Given the description of an element on the screen output the (x, y) to click on. 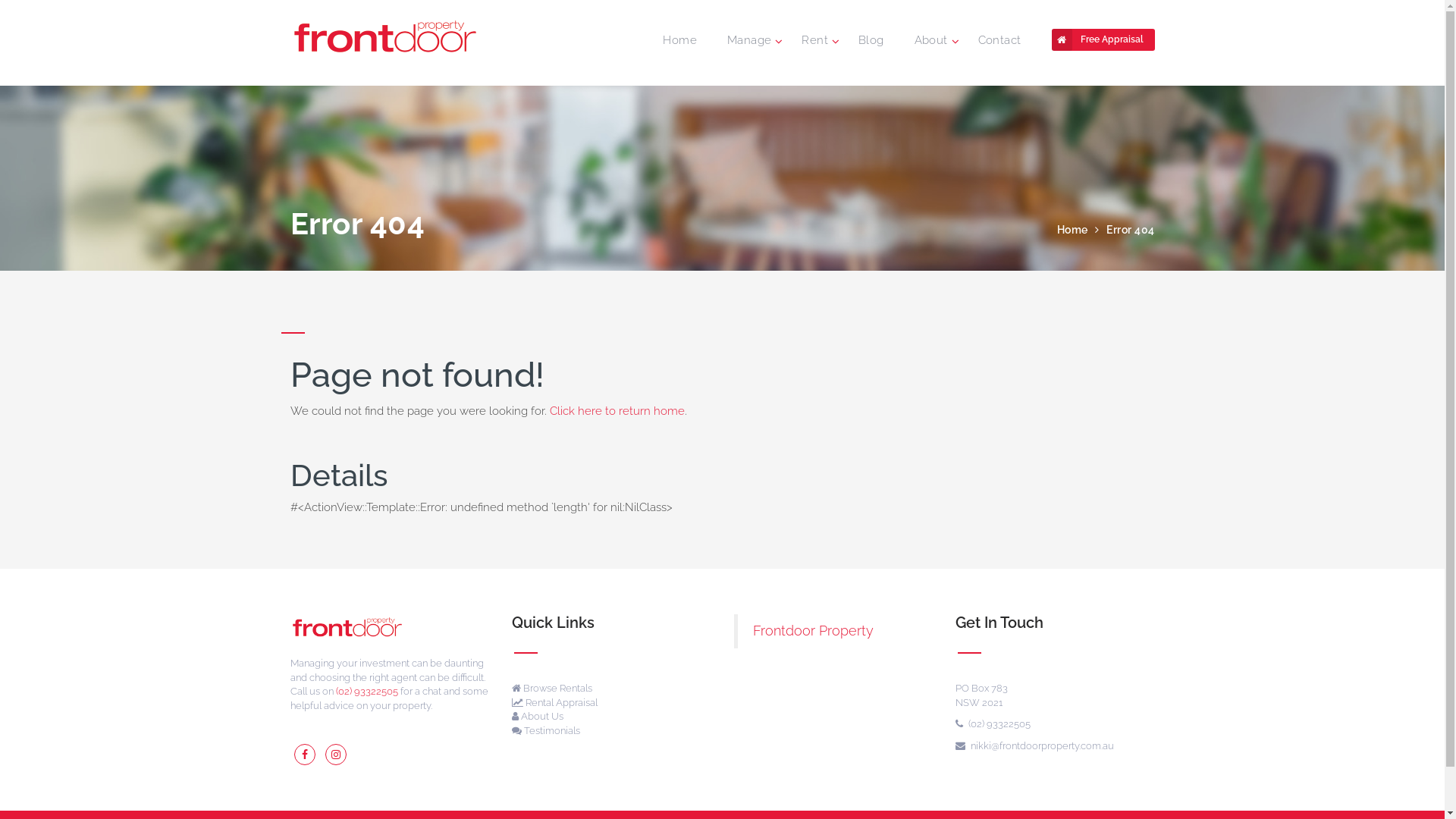
(02) 93322505 Element type: text (992, 723)
Error 404 Element type: text (1130, 229)
nikki@frontdoorproperty.com.au Element type: text (1034, 745)
Manage Element type: text (749, 39)
Browse Rentals Element type: text (551, 687)
Blog Element type: text (871, 39)
Free Appraisal Element type: text (1102, 39)
Click here to return home Element type: text (616, 410)
Contact Element type: text (999, 39)
Rental Appraisal Element type: text (554, 702)
Home Element type: text (679, 39)
(02) 93322505 Element type: text (366, 690)
About Element type: text (931, 39)
Frontdoor Property Element type: text (812, 630)
Testimonials Element type: text (545, 730)
Rent Element type: text (814, 39)
About Us Element type: text (537, 715)
